Given the description of an element on the screen output the (x, y) to click on. 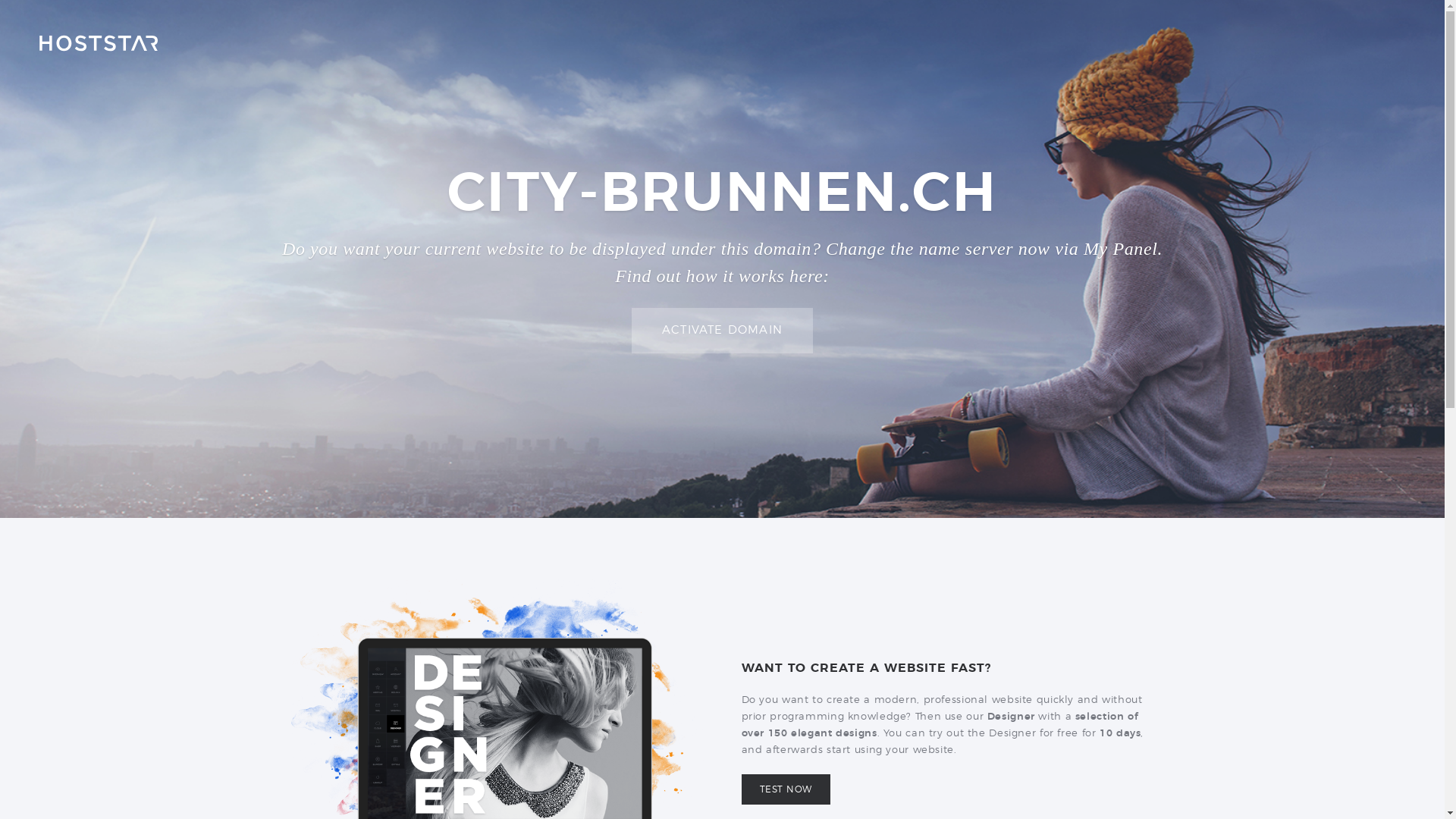
ACTIVATE DOMAIN Element type: text (721, 330)
TEST NOW Element type: text (785, 789)
ACTIVATE DOMAIN Element type: text (721, 330)
